Given the description of an element on the screen output the (x, y) to click on. 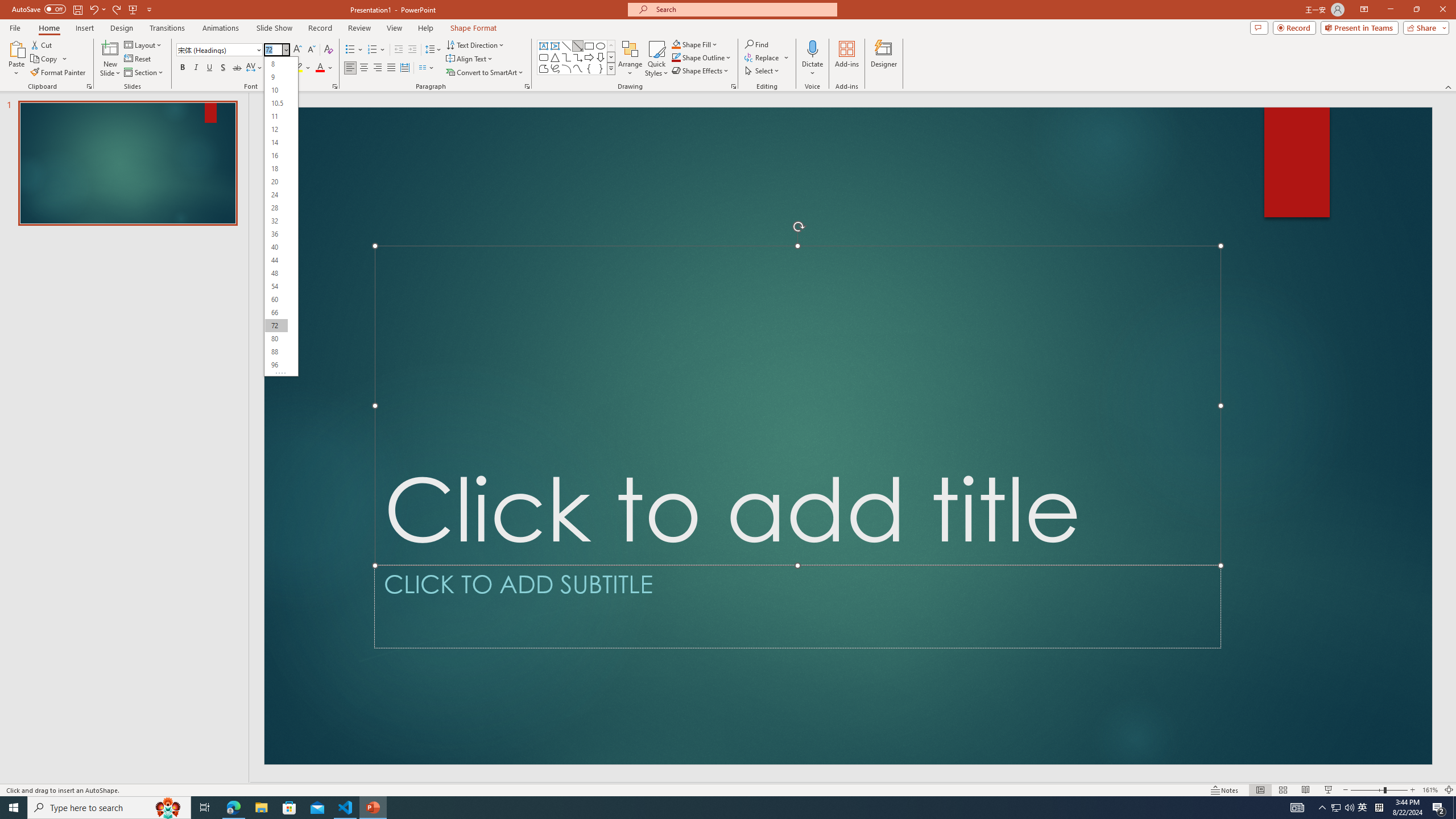
32 (276, 220)
96 (276, 364)
9 (276, 76)
